Given the description of an element on the screen output the (x, y) to click on. 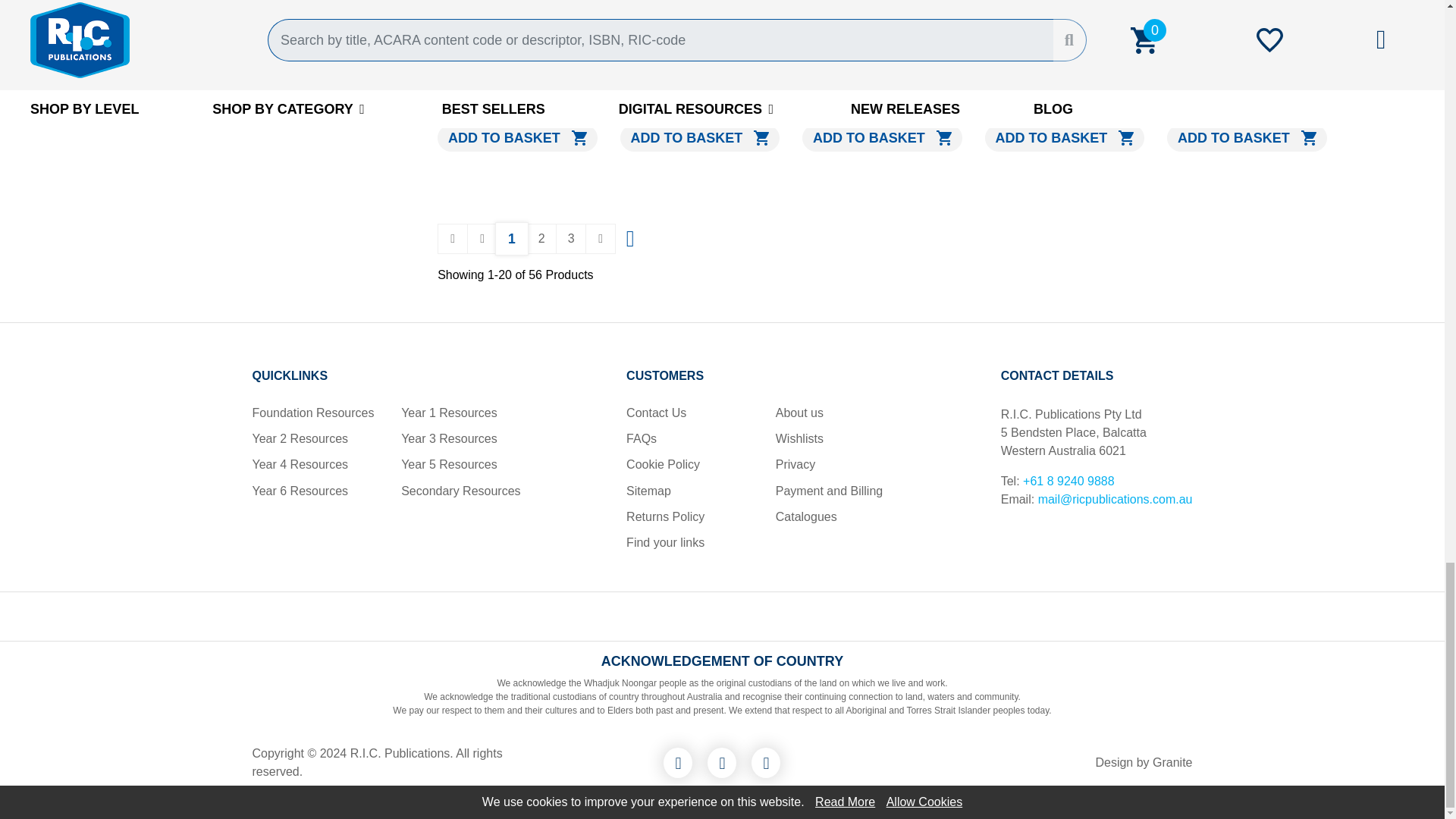
Foundation Resources (312, 412)
Year 6 Resources (299, 490)
Year 3 Resources (449, 438)
Contact Us (655, 412)
Privacy (795, 463)
FAQs (641, 438)
Cookie Policy (663, 463)
Secondary Resources (460, 490)
About us (800, 412)
Year 5 Resources (449, 463)
Sitemap (648, 490)
Year 1 Resources (449, 412)
Payment and Billing (829, 490)
Year 2 Resources (299, 438)
Wishlists (800, 438)
